Given the description of an element on the screen output the (x, y) to click on. 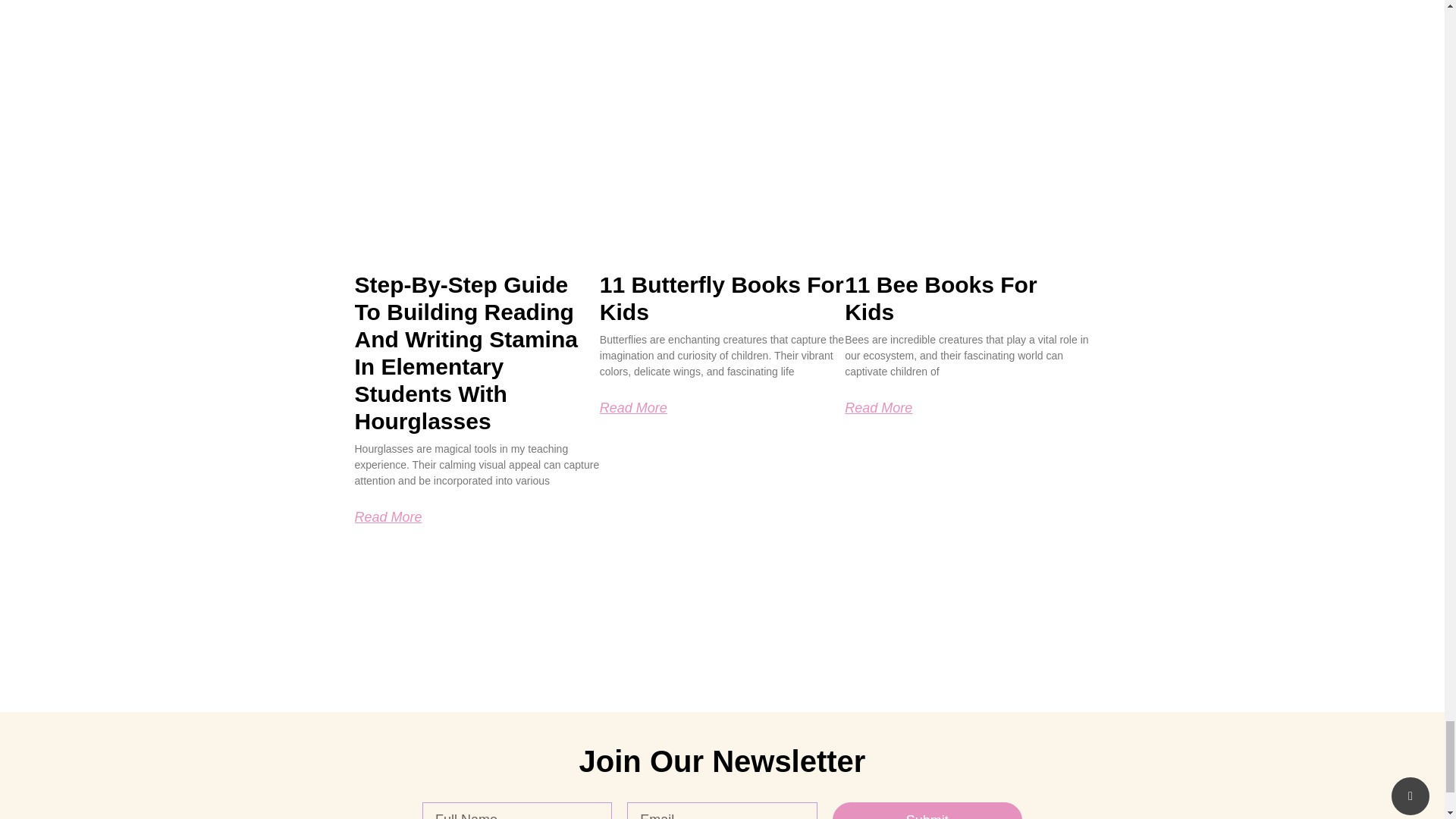
11 Butterfly Books For Kids (721, 297)
Read More (388, 517)
